Given the description of an element on the screen output the (x, y) to click on. 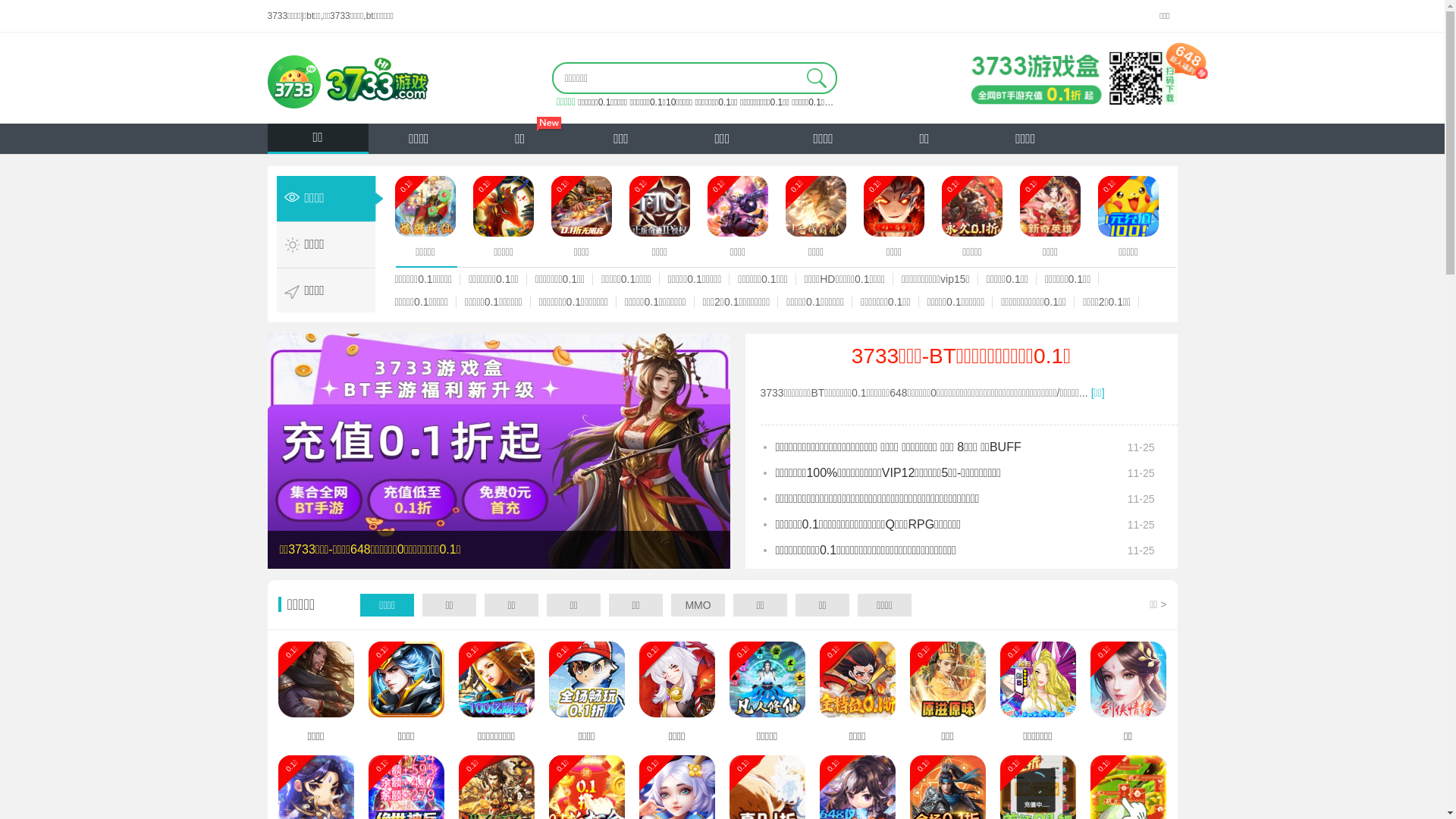
MMO Element type: text (697, 604)
